Given the description of an element on the screen output the (x, y) to click on. 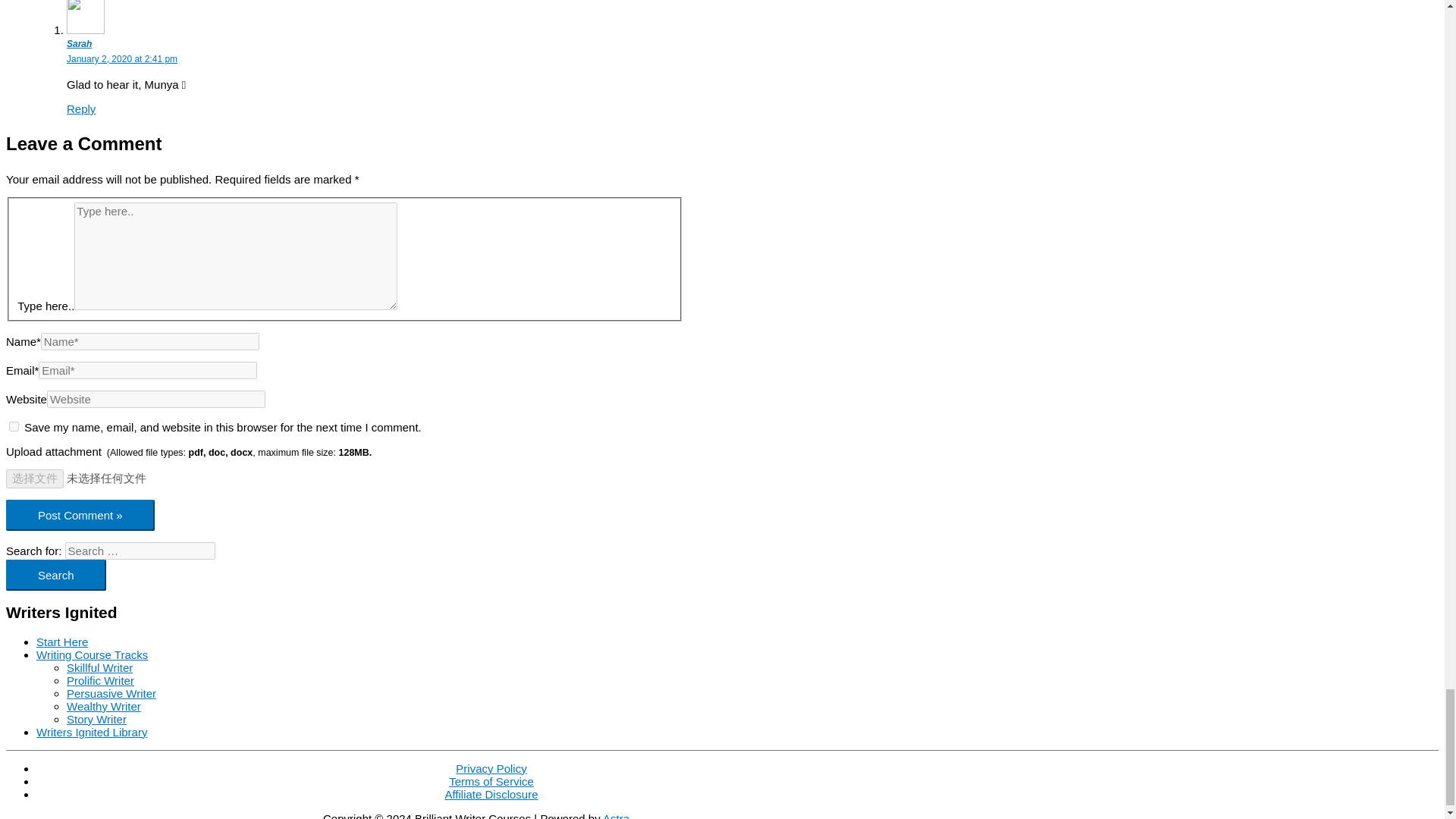
Writing Course Tracks (92, 653)
Affiliate Disclosure (490, 793)
Writers Ignited Library (91, 730)
yes (13, 426)
January 2, 2020 at 2:41 pm (121, 59)
Reply (81, 108)
Search (55, 574)
Privacy Policy (490, 767)
Skillful Writer (99, 667)
Search (55, 574)
Persuasive Writer (110, 693)
Prolific Writer (99, 679)
Story Writer (96, 718)
Search (55, 574)
Wealthy Writer (103, 705)
